Given the description of an element on the screen output the (x, y) to click on. 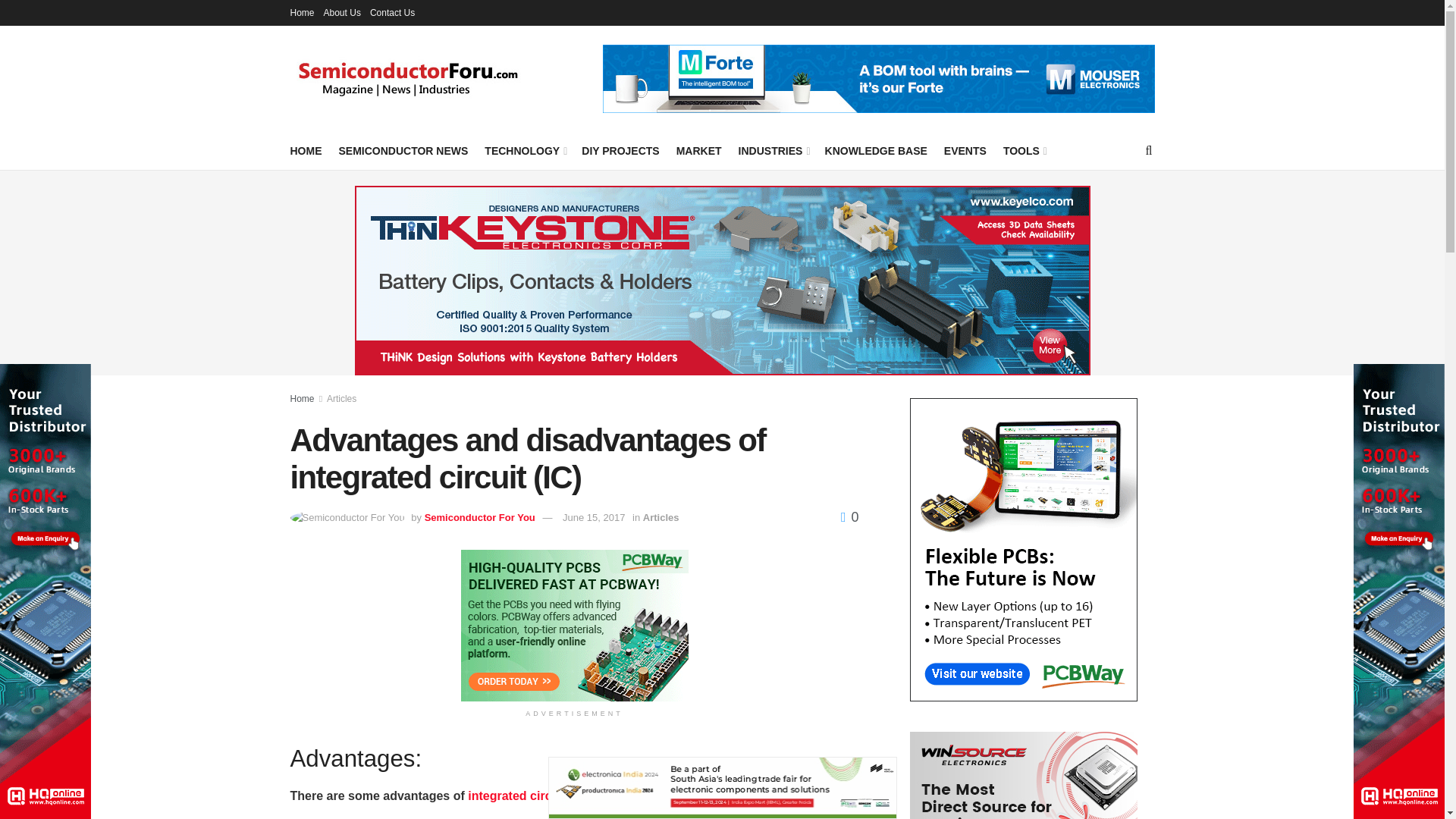
DIY PROJECTS (619, 150)
TOOLS (1024, 150)
KNOWLEDGE BASE (876, 150)
HOME (305, 150)
SEMICONDUCTOR NEWS (402, 150)
Home (301, 12)
TECHNOLOGY (524, 150)
INDUSTRIES (773, 150)
Contact Us (391, 12)
MARKET (699, 150)
EVENTS (965, 150)
About Us (342, 12)
